Given the description of an element on the screen output the (x, y) to click on. 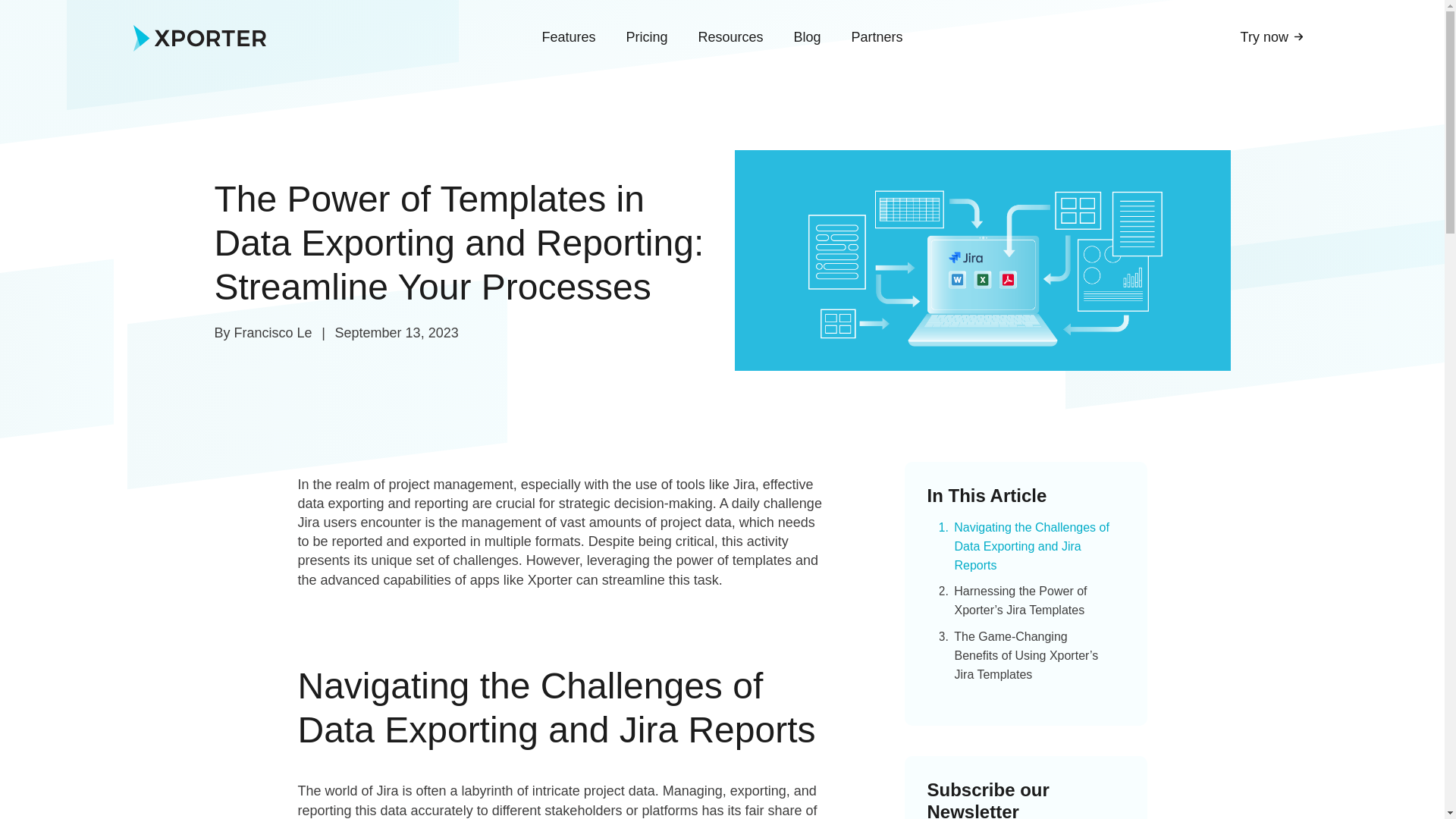
Try now (1272, 36)
Features (567, 36)
Resources (729, 36)
Pricing (646, 36)
Partners (876, 36)
Blog (806, 36)
Navigating the Challenges of Data Exporting and Jira Reports (1031, 545)
